Given the description of an element on the screen output the (x, y) to click on. 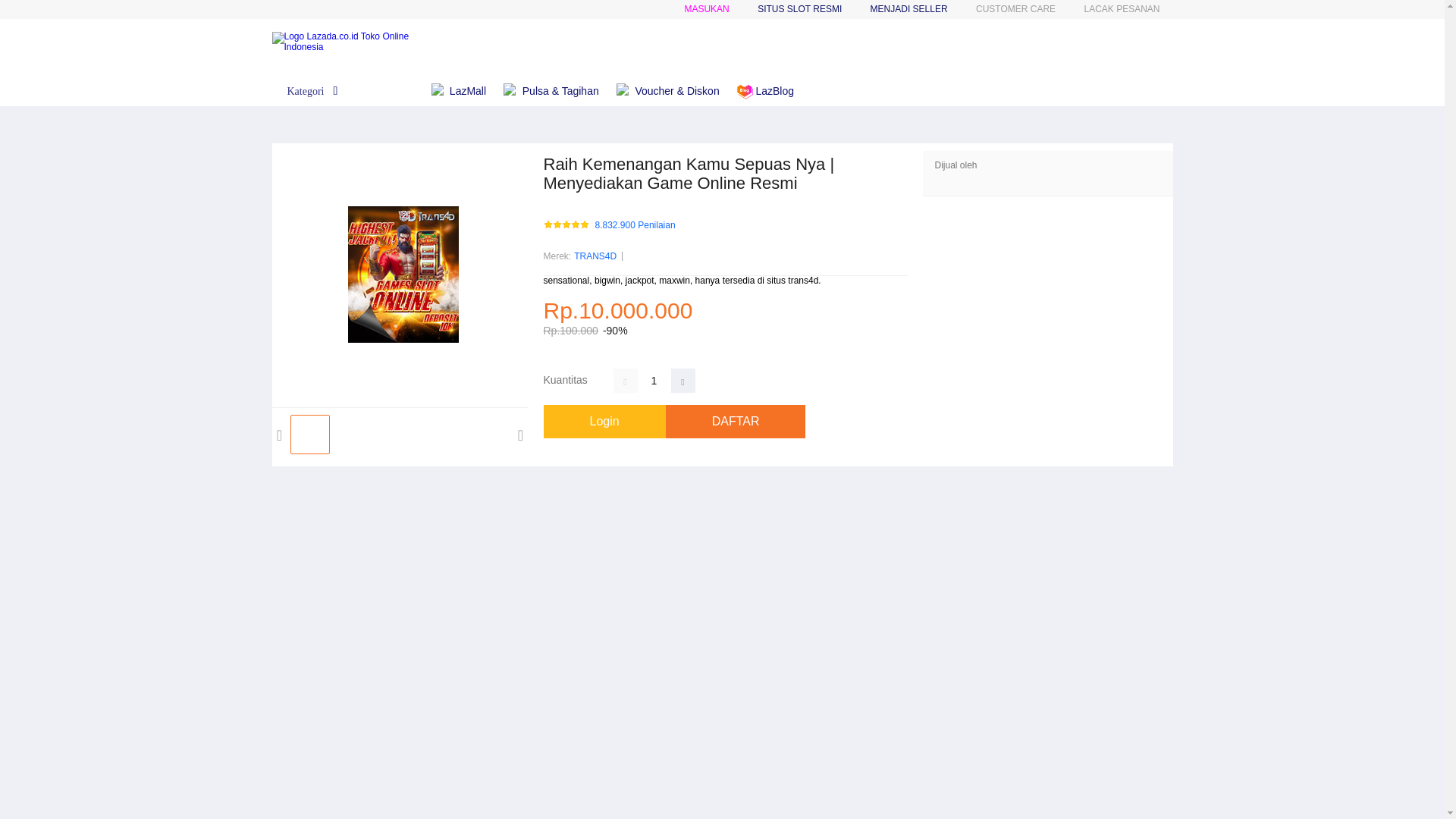
MASUKAN (706, 9)
MENJADI SELLER (908, 9)
1 (653, 380)
